Given the description of an element on the screen output the (x, y) to click on. 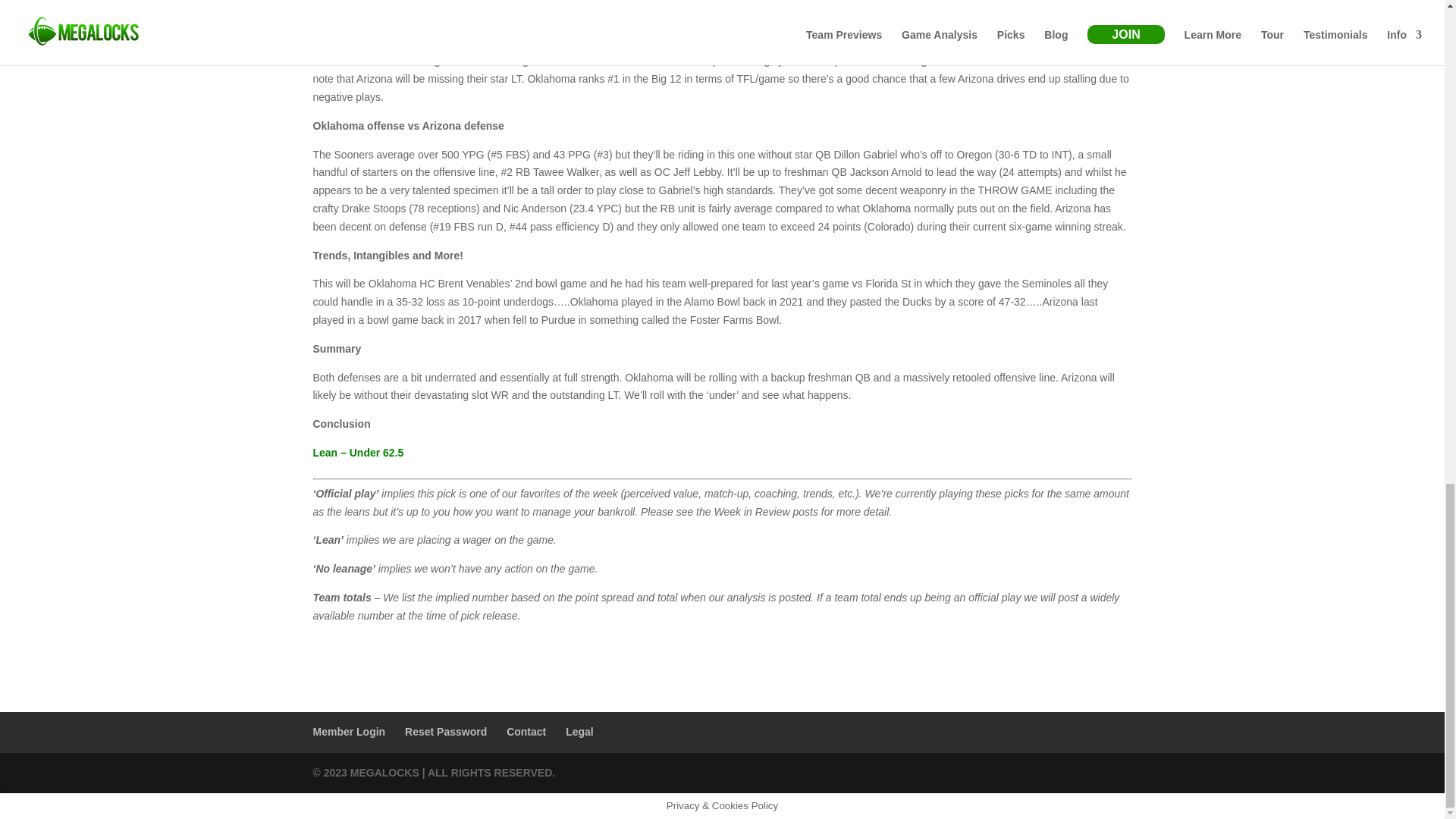
Legal (580, 731)
Member Login (349, 731)
Contact (526, 731)
Reset Password (445, 731)
